Given the description of an element on the screen output the (x, y) to click on. 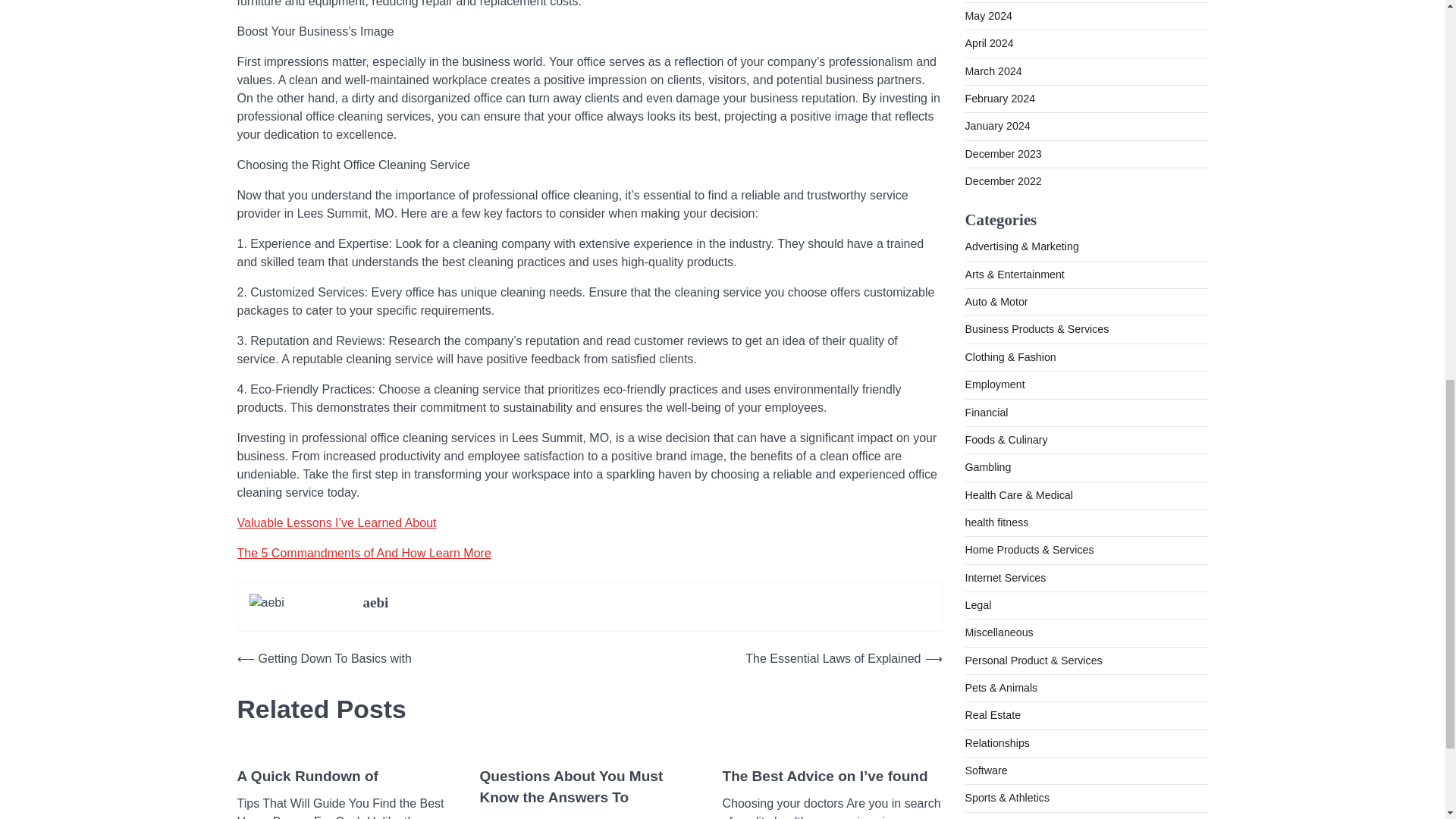
The 5 Commandments of And How Learn More (362, 480)
Gambling (986, 216)
Lessons Learned About (317, 703)
Employment (994, 133)
Questions About You Must Know the Answers To (588, 714)
Financial (985, 162)
Learning The Secrets About (818, 703)
